Given the description of an element on the screen output the (x, y) to click on. 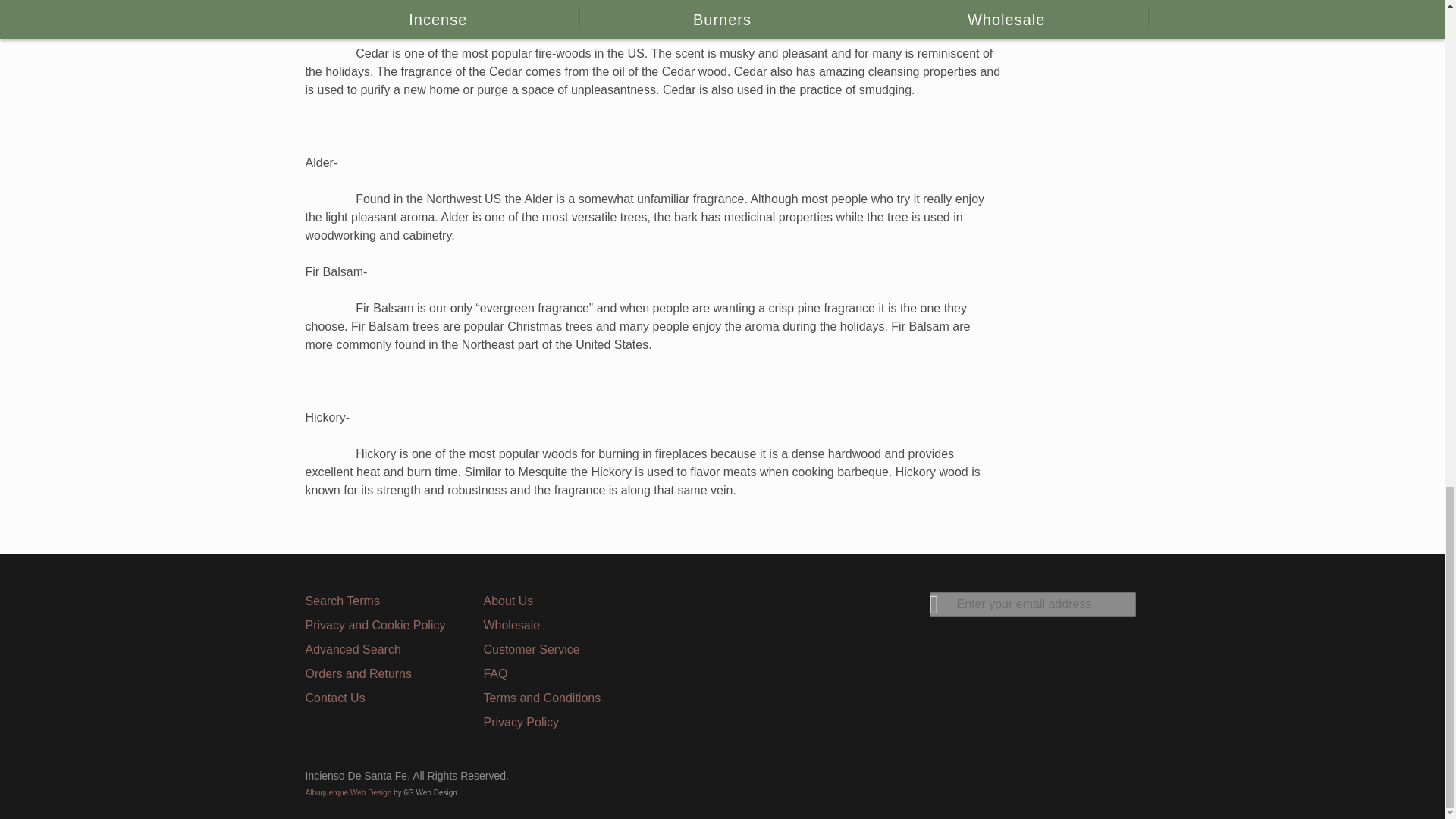
Albuquerque Web Design (347, 792)
Search Terms (341, 600)
Customer Service (531, 649)
Terms and Conditions (541, 697)
About Us (507, 600)
Contact Us (334, 697)
Wholesale (511, 625)
FAQ (494, 673)
Advanced Search (352, 649)
Privacy and Cookie Policy (374, 625)
